Given the description of an element on the screen output the (x, y) to click on. 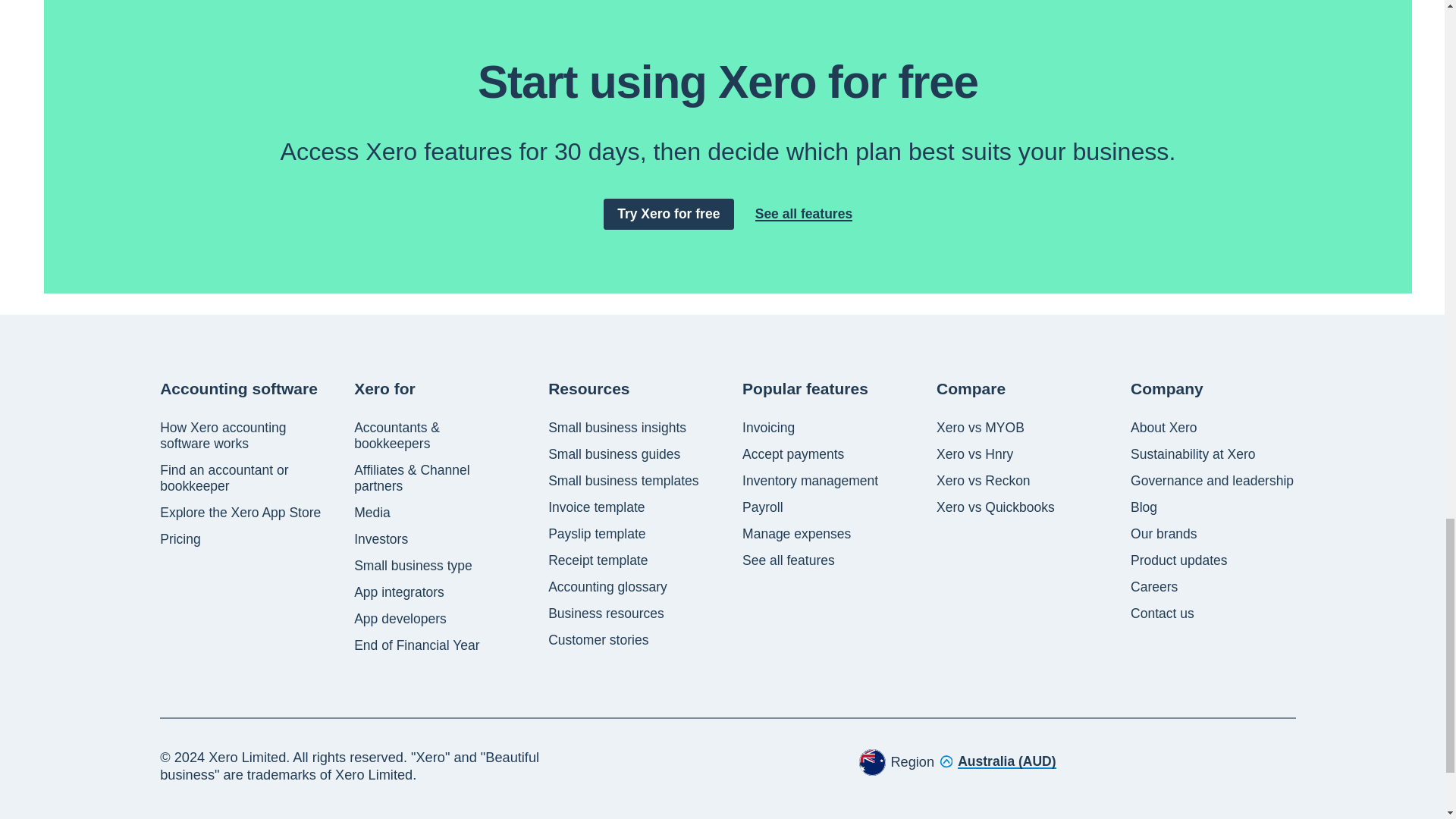
How Xero accounting software works (242, 436)
See all features (803, 213)
End of Financial Year (416, 645)
Media (371, 512)
Investors (380, 539)
Small business type (412, 565)
Explore the Xero App Store (240, 512)
Find an accountant or bookkeeper (242, 478)
Pricing (180, 539)
App integrators (398, 592)
Try Xero for free (668, 214)
App developers (399, 618)
